Given the description of an element on the screen output the (x, y) to click on. 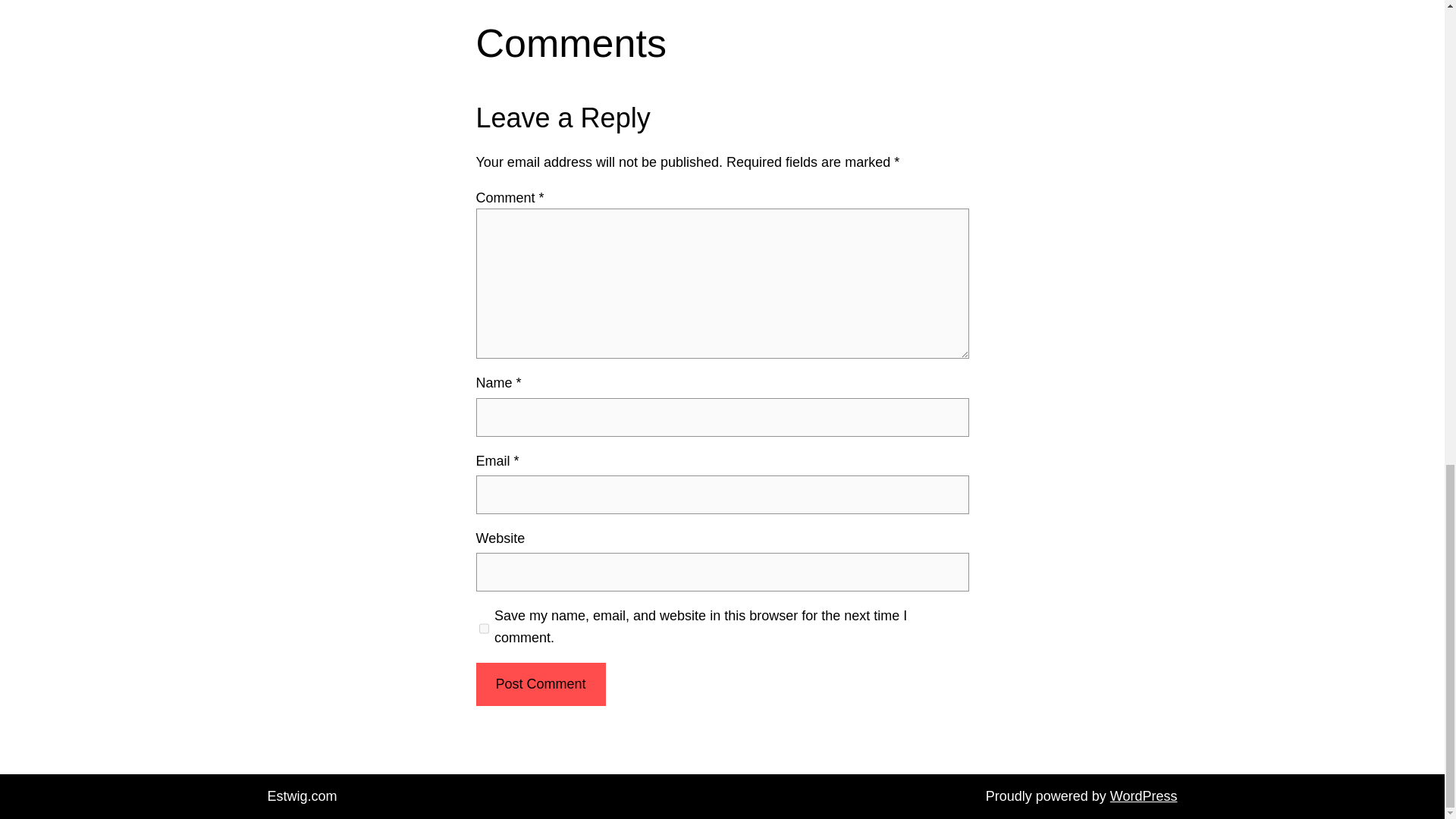
Estwig.com (301, 795)
WordPress (1143, 795)
Post Comment (540, 683)
Post Comment (540, 683)
